Given the description of an element on the screen output the (x, y) to click on. 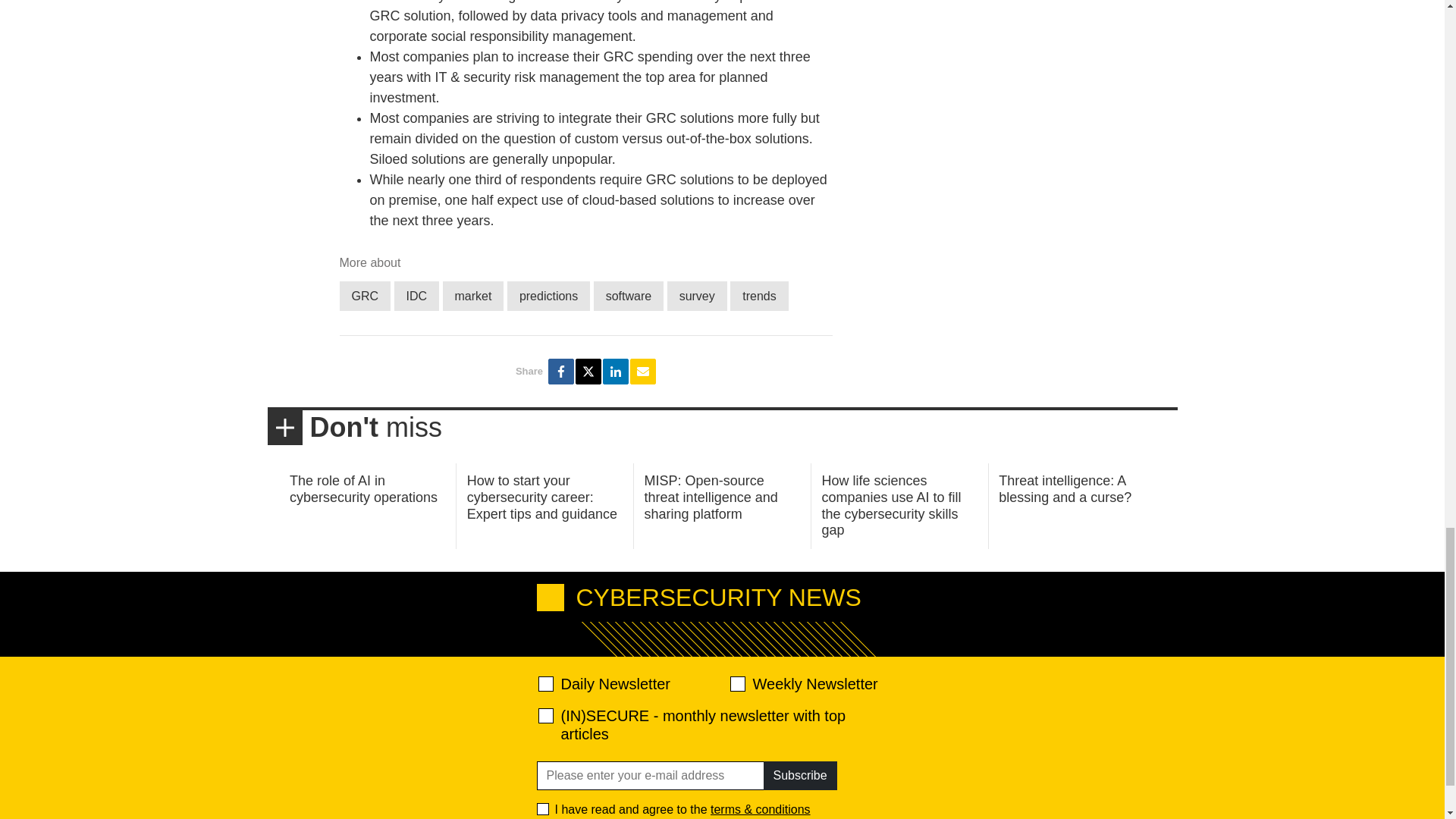
GRC (365, 296)
28abe5d9ef (545, 715)
survey (696, 296)
d2d471aafa (736, 683)
predictions (547, 296)
software (628, 296)
GRC (365, 296)
software (628, 296)
1 (542, 808)
trends (758, 296)
predictions (547, 296)
market (472, 296)
IDC (416, 296)
520ac2f639 (545, 683)
trends (758, 296)
